Given the description of an element on the screen output the (x, y) to click on. 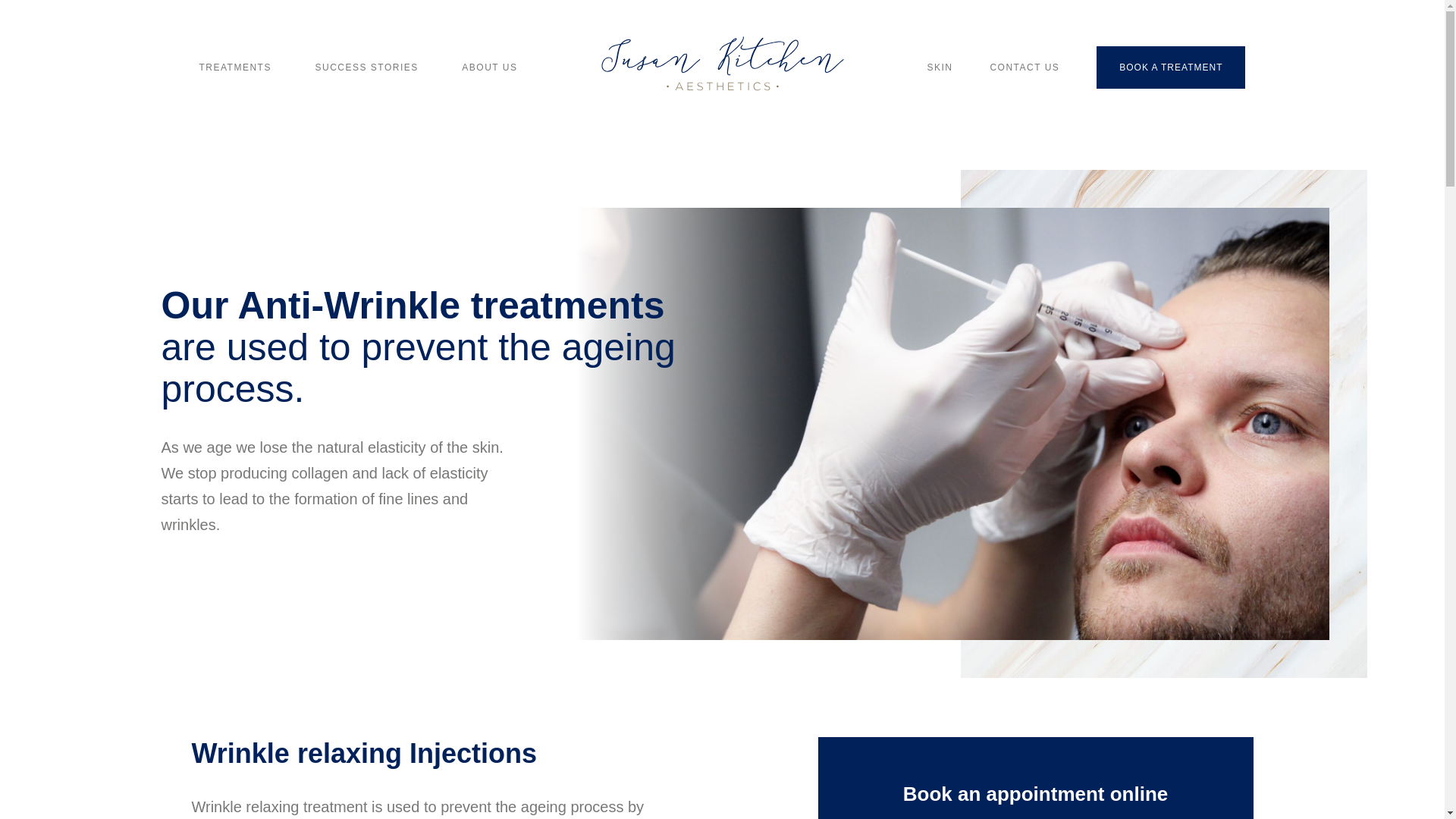
CONTACT US (1024, 67)
TREATMENTS (234, 67)
SUCCESS STORIES (367, 67)
BOOK A TREATMENT (1170, 66)
ABOUT US (488, 67)
